Given the description of an element on the screen output the (x, y) to click on. 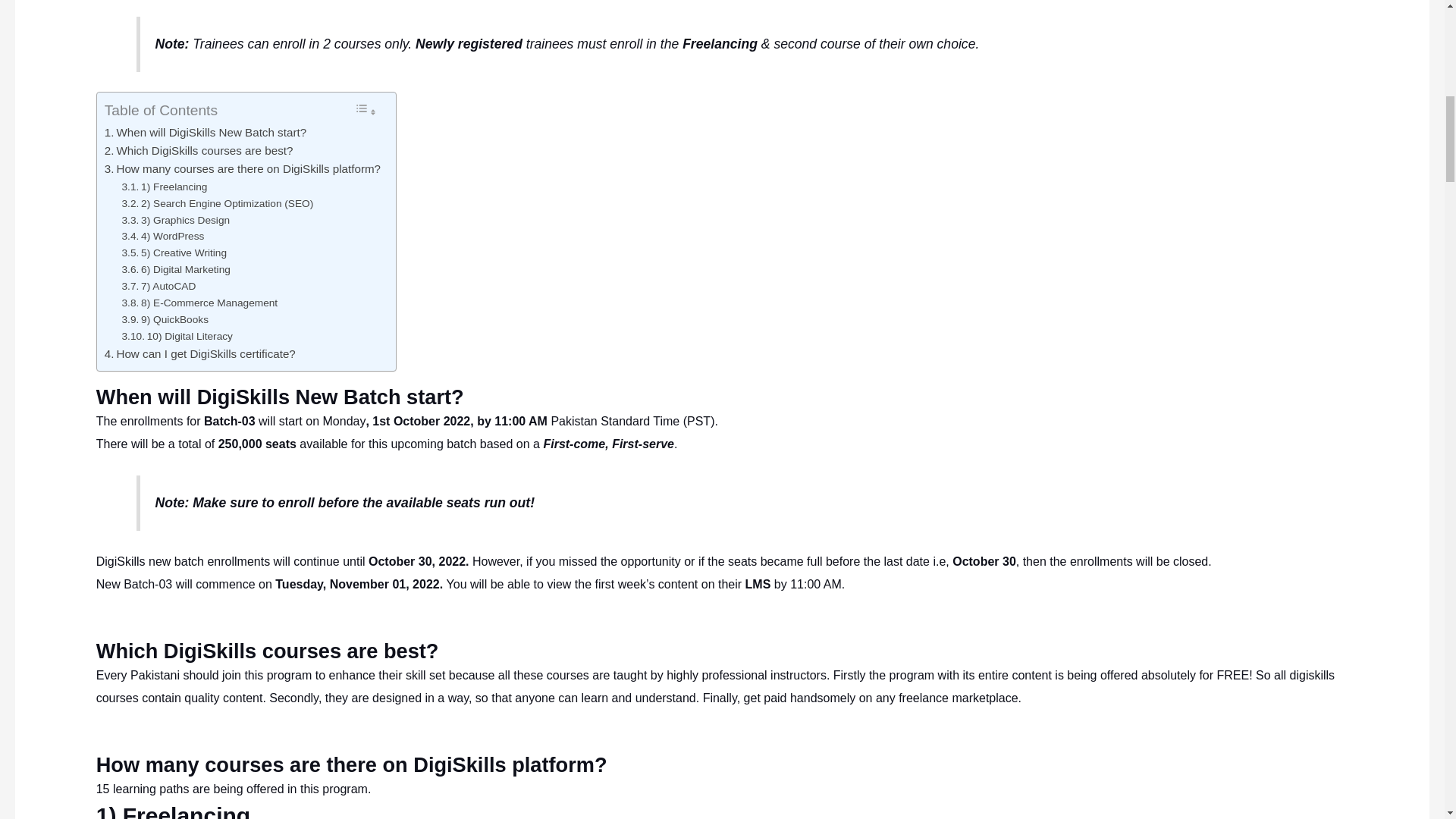
Which DigiSkills courses are best? (199, 150)
Which DigiSkills courses are best? (199, 150)
When will DigiSkills New Batch start? (204, 132)
How many courses are there on DigiSkills platform? (242, 168)
How many courses are there on DigiSkills platform? (242, 168)
When will DigiSkills New Batch start? (204, 132)
How can I get DigiSkills certificate? (199, 353)
